Given the description of an element on the screen output the (x, y) to click on. 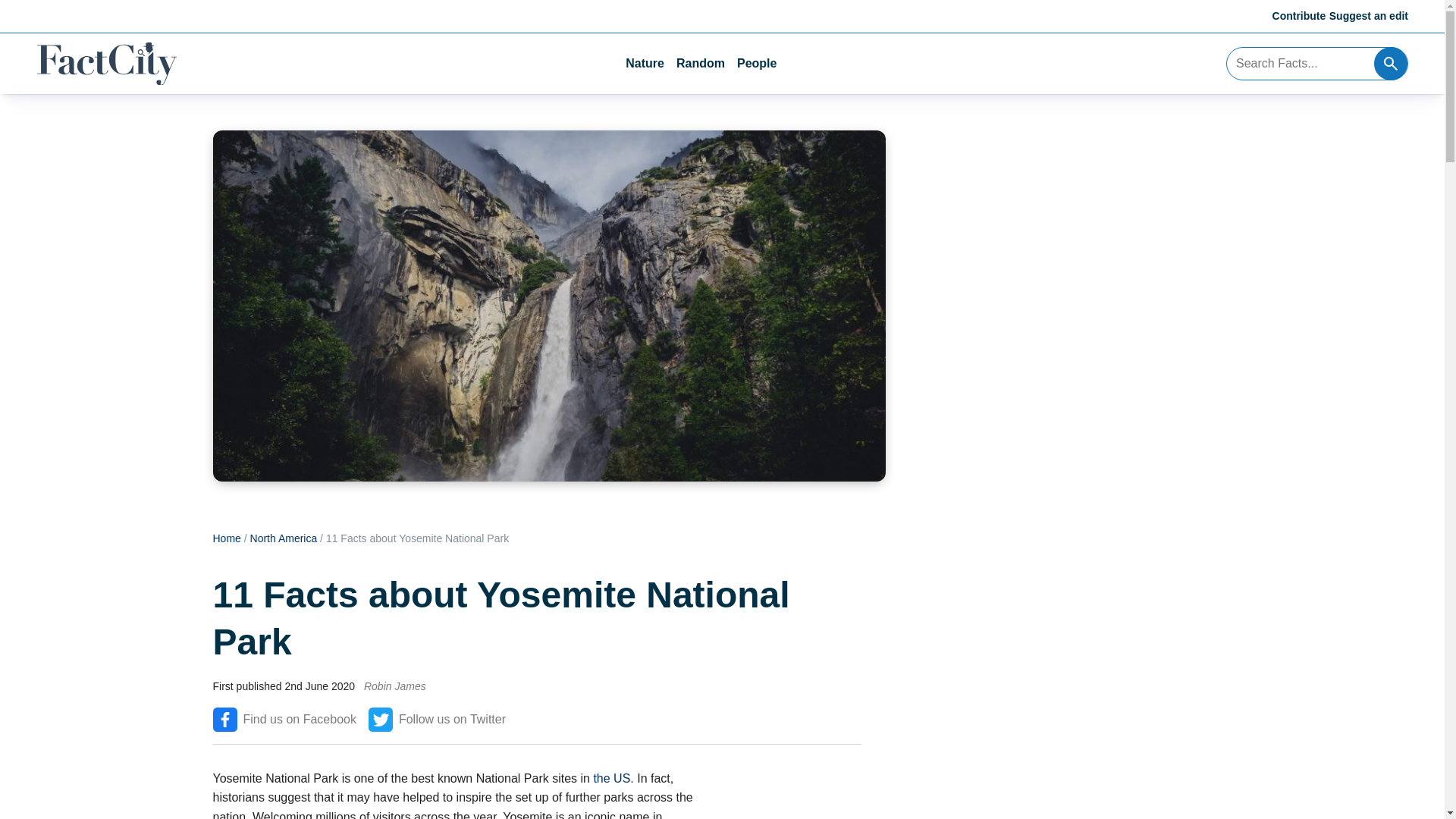
Search (1390, 63)
the US (611, 778)
Follow us on Twitter (436, 719)
North America (283, 538)
Find us on Facebook (283, 719)
Random (701, 63)
People (756, 63)
Contribute (1299, 15)
Contribute to FactCity (1299, 15)
Fact City (106, 63)
Nature (644, 63)
Suggest an edit to FactCity (1368, 15)
Home (226, 538)
Search (1390, 63)
Search (1390, 63)
